Given the description of an element on the screen output the (x, y) to click on. 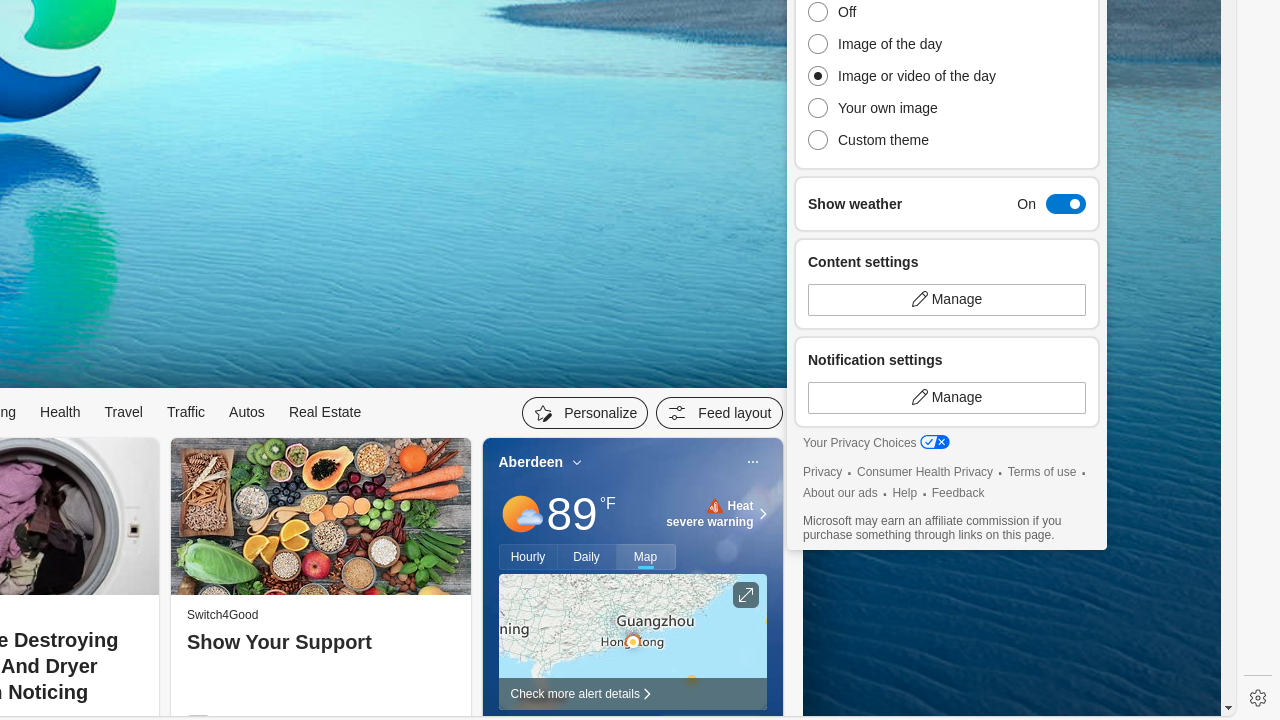
Check more alert details Element type: link (632, 694)
Daily Element type: list-item (587, 557)
Custom theme Element type: radio-button (907, 140)
Show Your Support Element type: link (320, 643)
Show weather On Element type: toggle-button (947, 204)
